Given the description of an element on the screen output the (x, y) to click on. 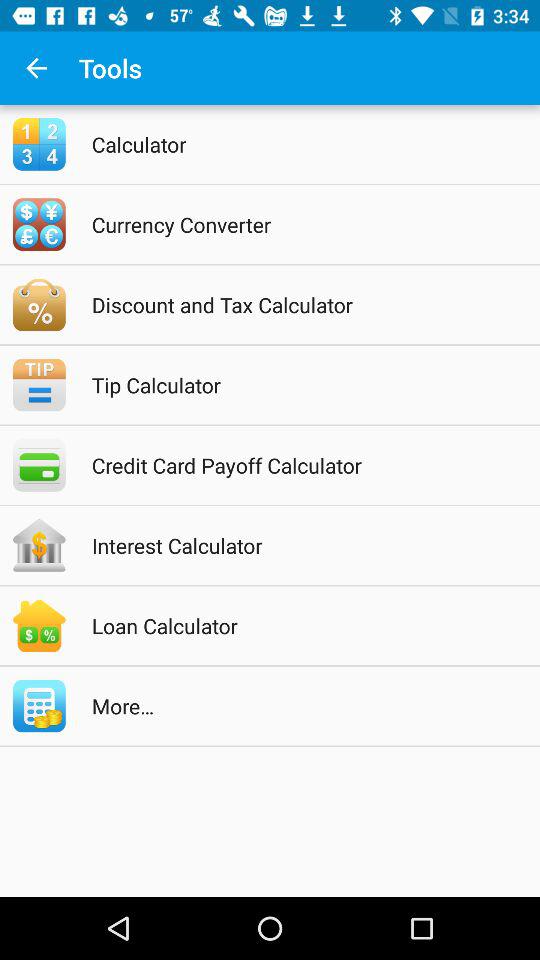
jump until the credit card payoff (295, 465)
